Given the description of an element on the screen output the (x, y) to click on. 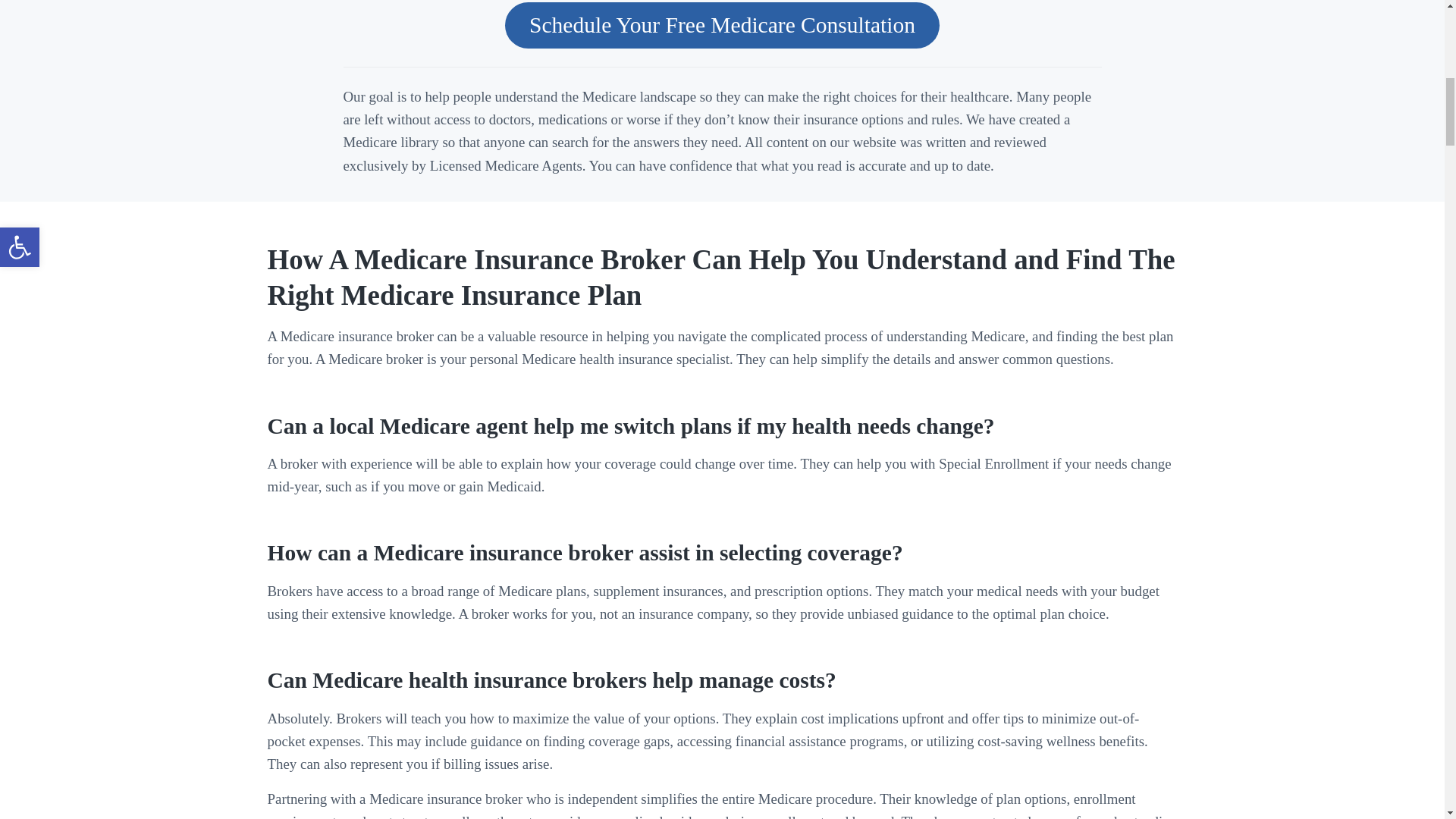
Schedule Your Free Medicare Consultation (722, 25)
